Given the description of an element on the screen output the (x, y) to click on. 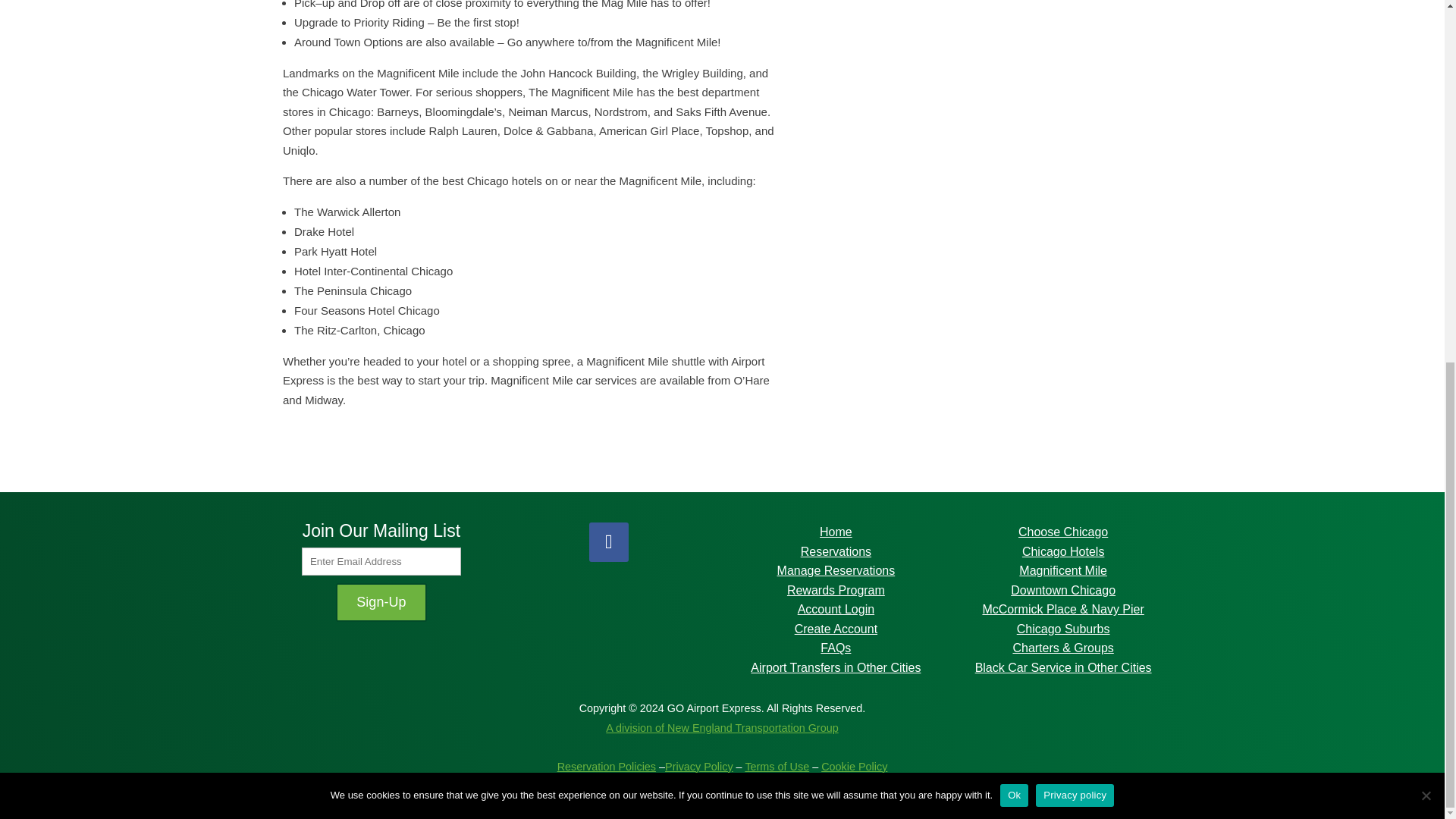
Sign-Up (381, 602)
